Given the description of an element on the screen output the (x, y) to click on. 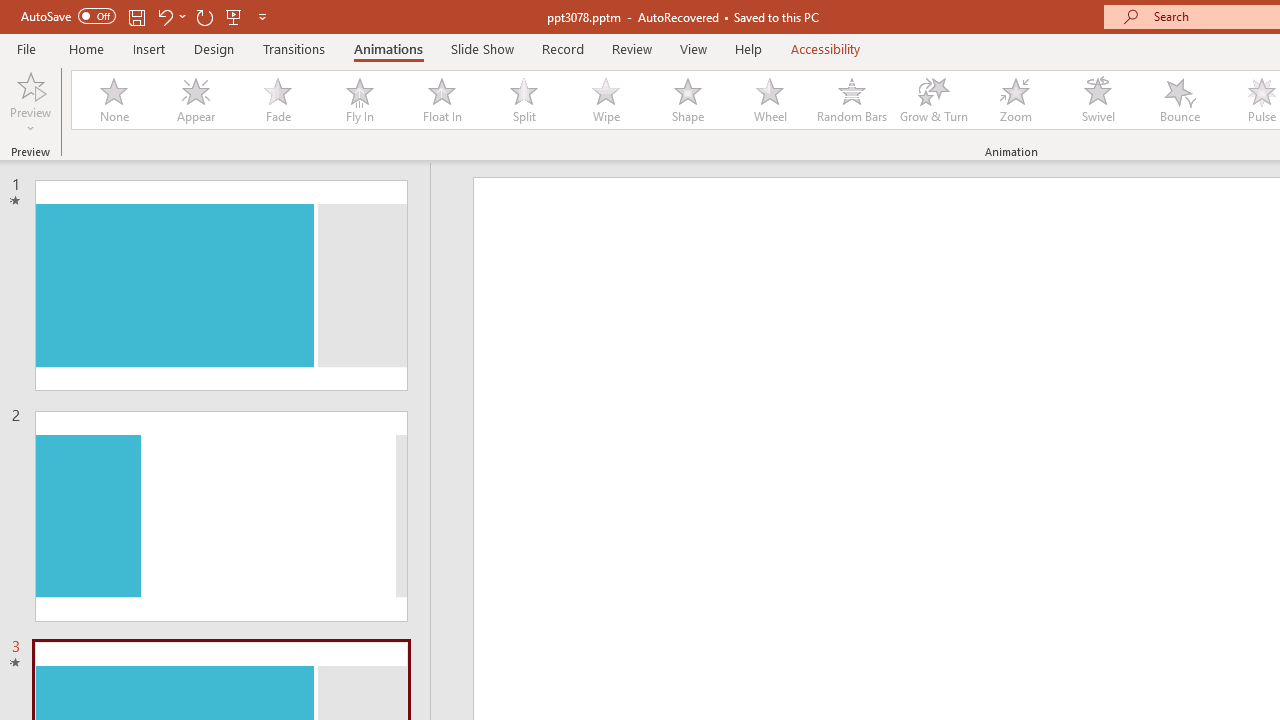
Preview (30, 84)
Fade (277, 100)
Random Bars (852, 100)
Appear (195, 100)
Swivel (1098, 100)
Float In (441, 100)
